Given the description of an element on the screen output the (x, y) to click on. 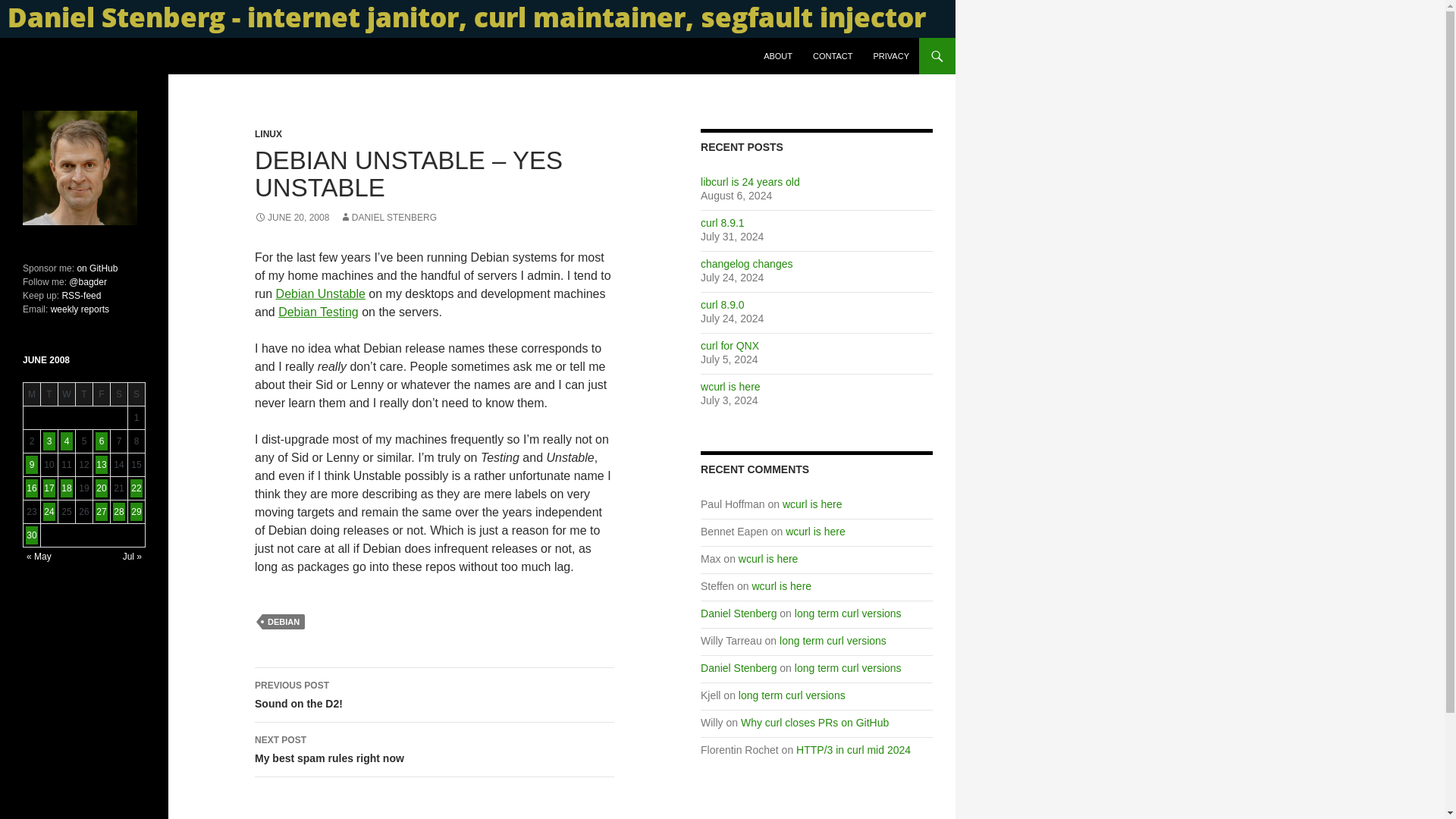
wcurl is here (730, 386)
long term curl versions (832, 640)
Debian Testing (318, 311)
wcurl is here (813, 503)
curl 8.9.1 (722, 223)
DEBIAN (283, 621)
ABOUT (778, 55)
curl 8.9.0 (722, 304)
Debian Unstable (320, 293)
CONTACT (832, 55)
long term curl versions (847, 613)
on GitHub (95, 267)
libcurl is 24 years old (749, 182)
